Given the description of an element on the screen output the (x, y) to click on. 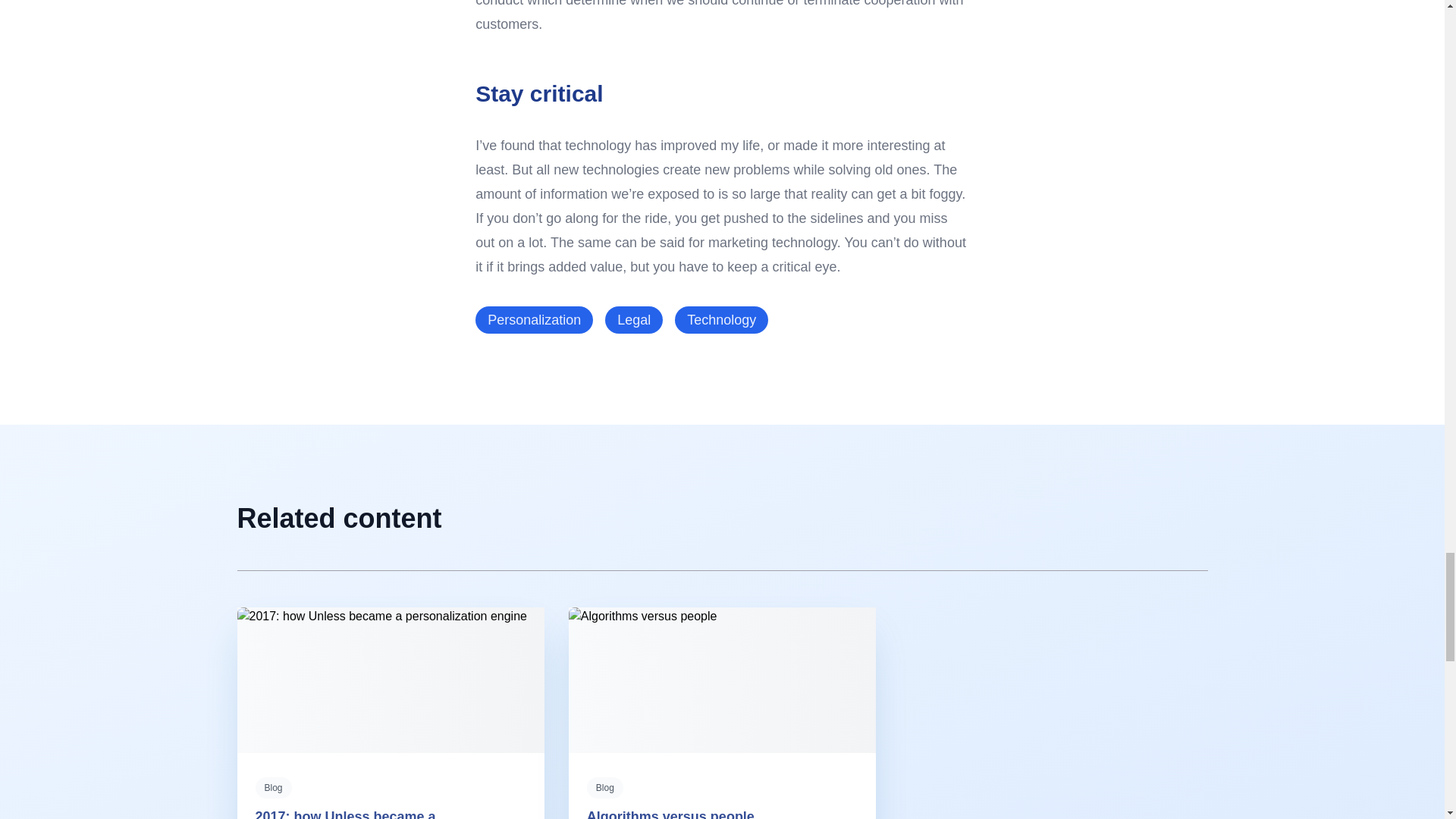
Legal (633, 319)
Personalization (534, 319)
Algorithms versus people (670, 814)
2017: how Unless became a personalization engine (344, 814)
Blog (604, 787)
Blog (272, 787)
Technology (721, 319)
